Given the description of an element on the screen output the (x, y) to click on. 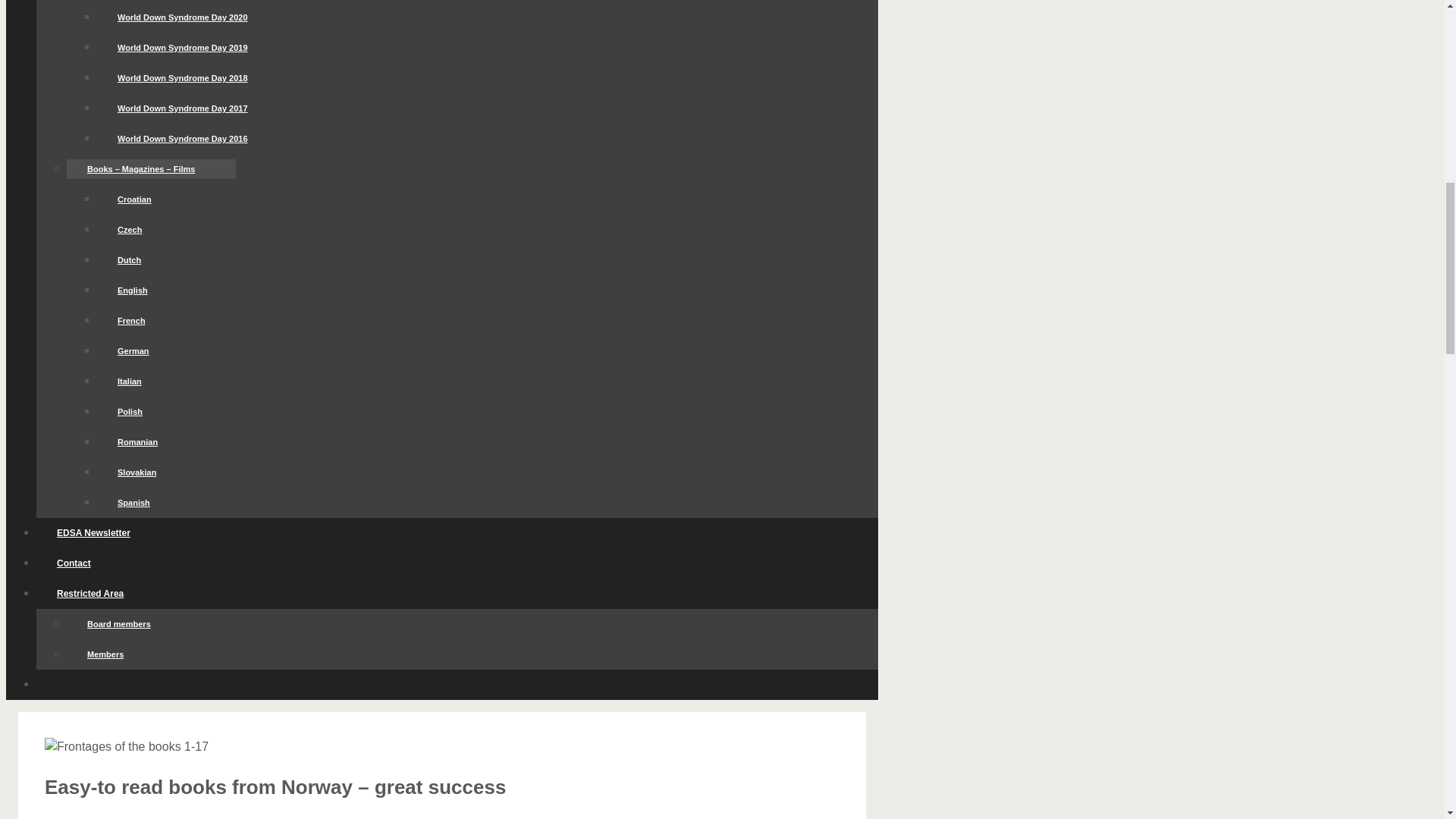
Czech (129, 229)
World Down Syndrome Day 2017 (182, 107)
Croatian (134, 199)
Dutch (129, 260)
World Down Syndrome Day 2019 (182, 47)
World Down Syndrome Day 2016 (182, 138)
World Down Syndrome Day 2020 (182, 17)
World Down Syndrome Day 2018 (182, 77)
English (132, 290)
French (131, 320)
